Given the description of an element on the screen output the (x, y) to click on. 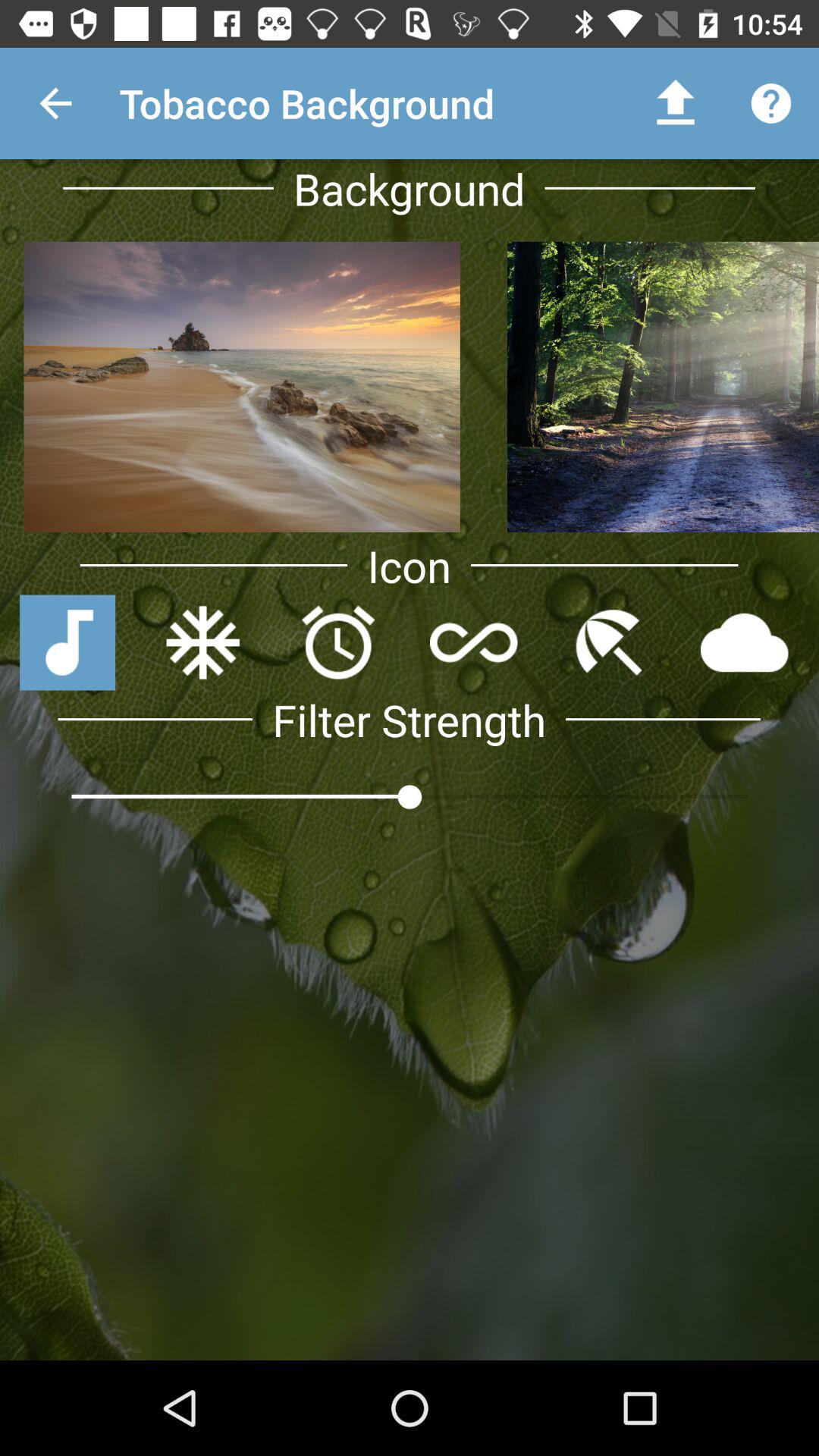
turn on the app next to tobacco background app (55, 103)
